Given the description of an element on the screen output the (x, y) to click on. 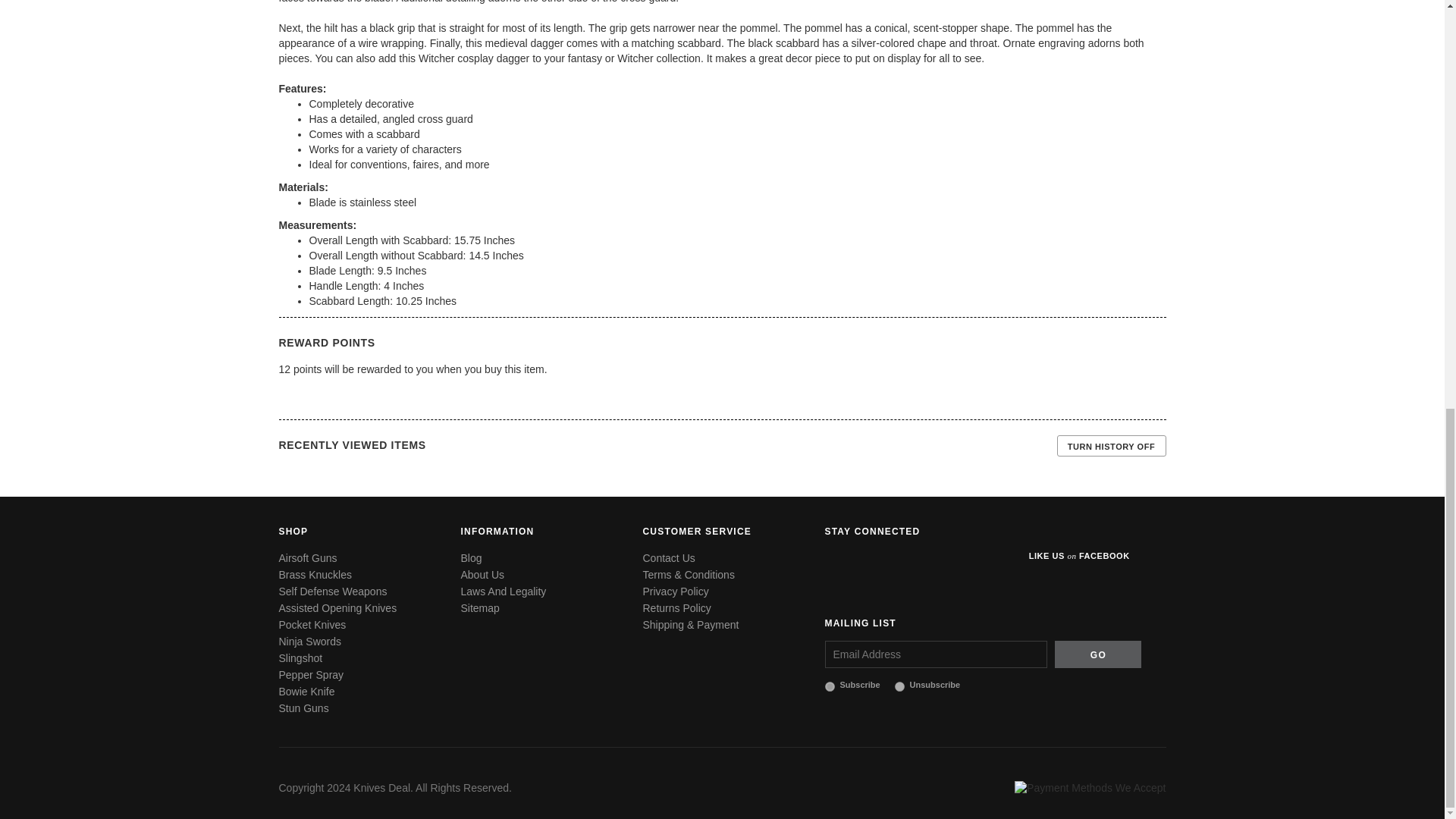
Subscribe to Our Channel (874, 564)
1 (829, 686)
GO (1097, 654)
0 (899, 686)
Follow Us on Tumblr (984, 564)
Follow Us on Instagram (947, 564)
Like Us on Facebook (838, 564)
Follow Us on Pinterest (911, 564)
